Given the description of an element on the screen output the (x, y) to click on. 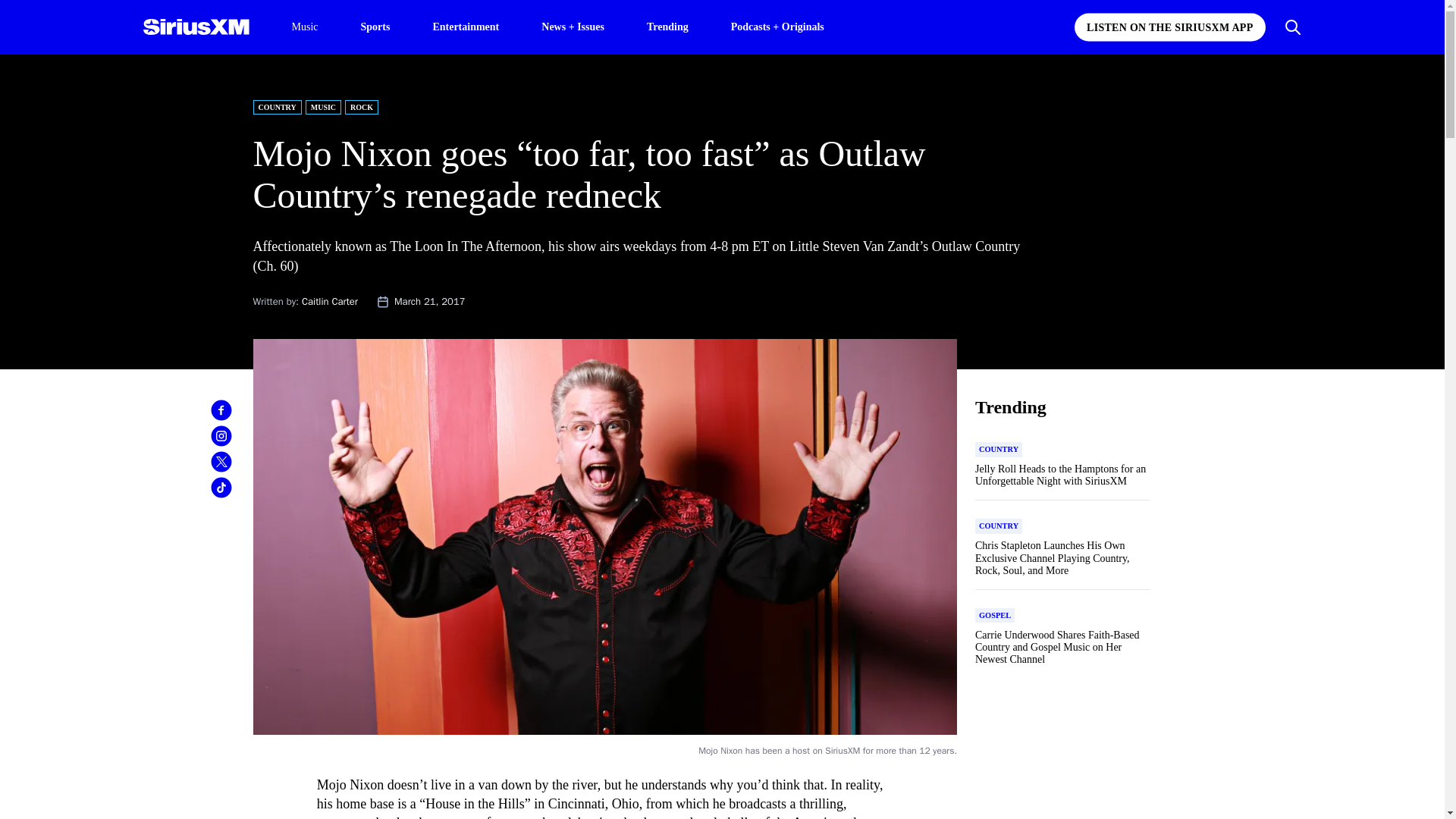
Music (304, 26)
ROCK (361, 106)
Caitlin Carter (329, 300)
Sports (375, 26)
MUSIC (322, 106)
Trending (667, 26)
Entertainment (465, 26)
LISTEN ON THE SIRIUSXM APP (1169, 27)
COUNTRY (277, 106)
